Given the description of an element on the screen output the (x, y) to click on. 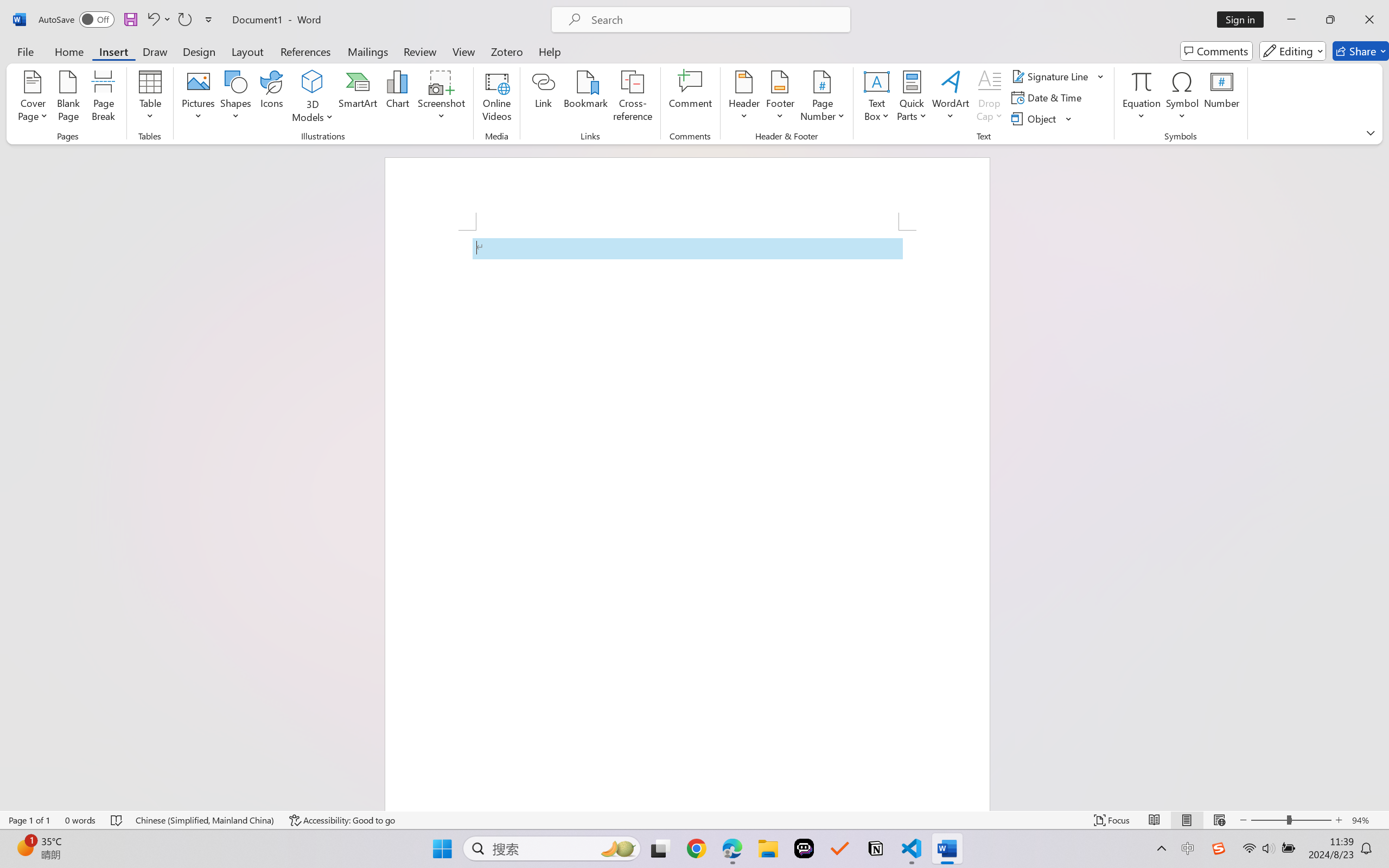
Sign in (1244, 19)
3D Models (312, 81)
Language Chinese (Simplified, Mainland China) (205, 819)
Undo Apply Quick Style (152, 19)
Page Number (822, 97)
Signature Line (1058, 75)
Object... (1035, 118)
